Given the description of an element on the screen output the (x, y) to click on. 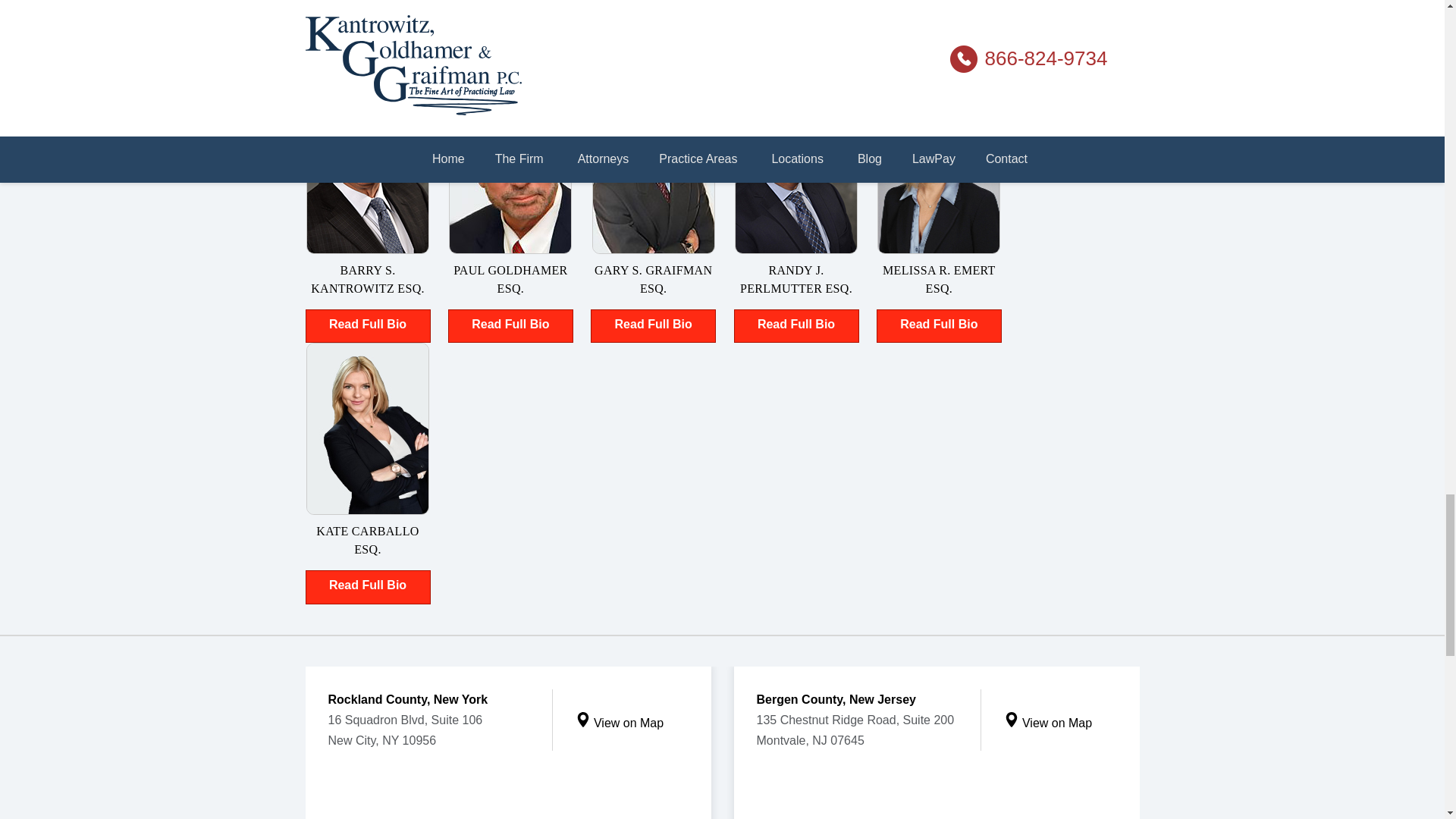
map of bergen county location (936, 792)
map of rockland county location (507, 792)
